Given the description of an element on the screen output the (x, y) to click on. 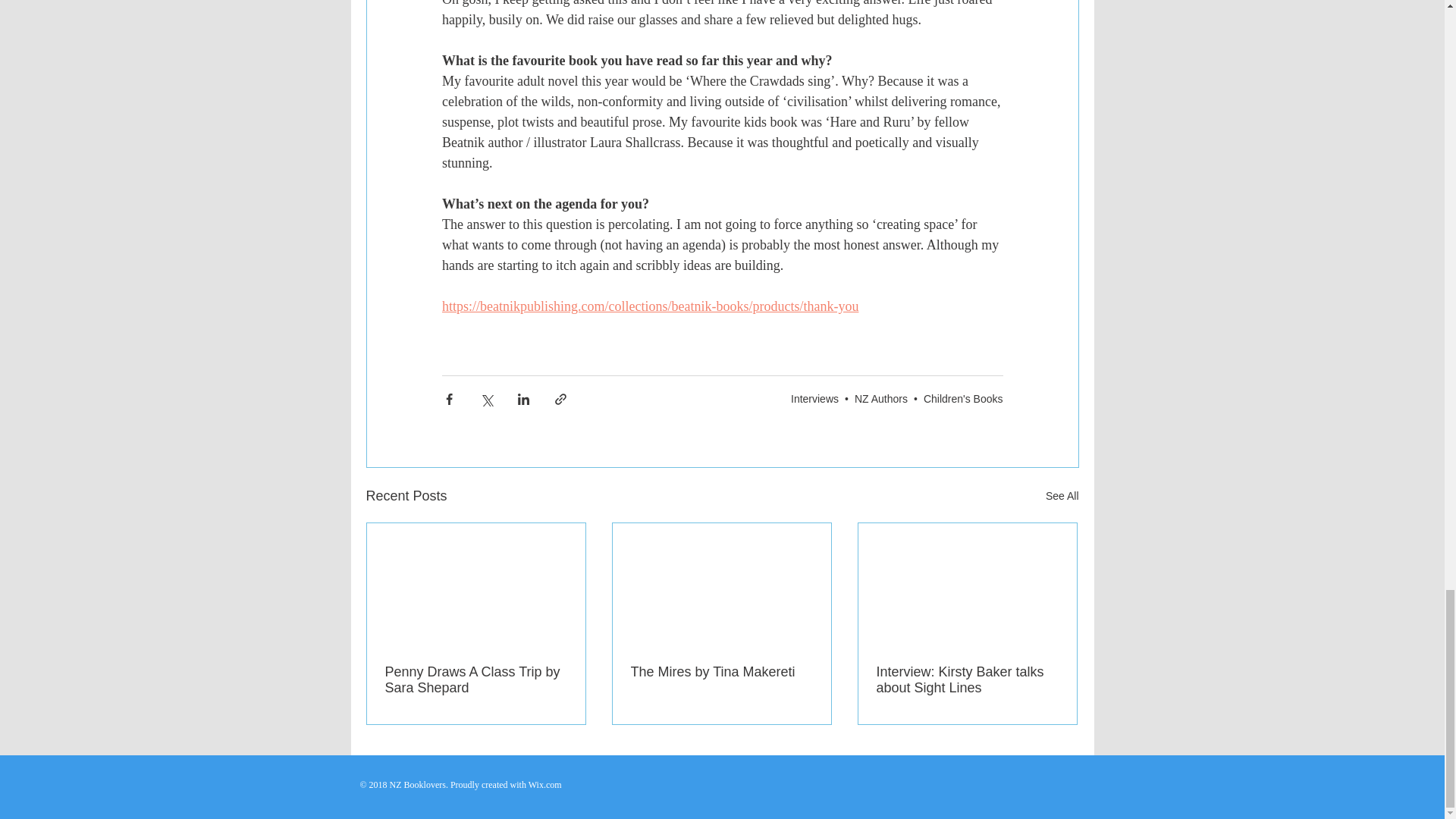
NZ Authors (880, 398)
Children's Books (963, 398)
Interviews (814, 398)
